Given the description of an element on the screen output the (x, y) to click on. 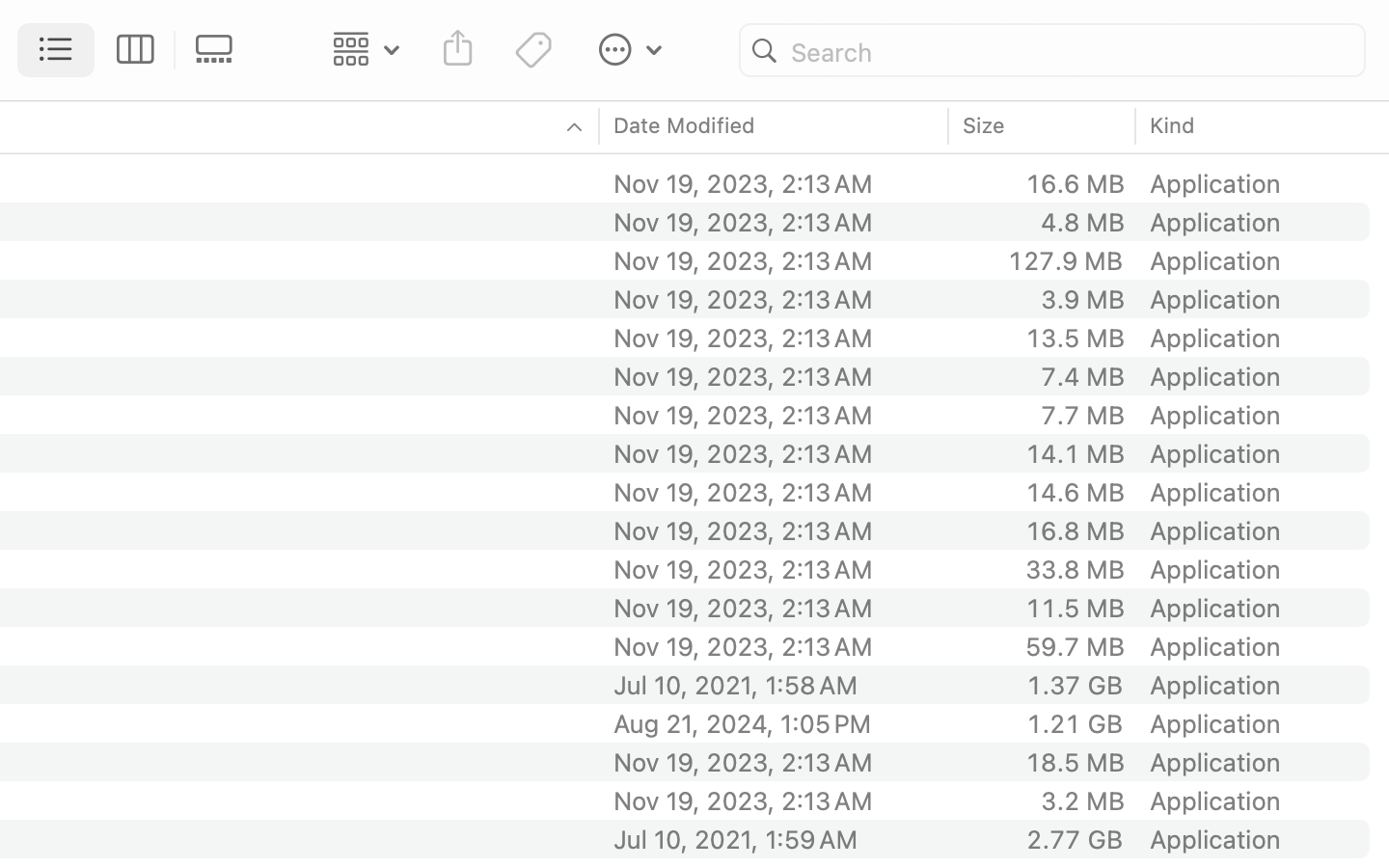
4.8 MB Element type: AXStaticText (1081, 221)
18.5 MB Element type: AXStaticText (1074, 761)
16.8 MB Element type: AXStaticText (1074, 530)
3.2 MB Element type: AXStaticText (1081, 800)
Kind Element type: AXStaticText (1172, 124)
